Given the description of an element on the screen output the (x, y) to click on. 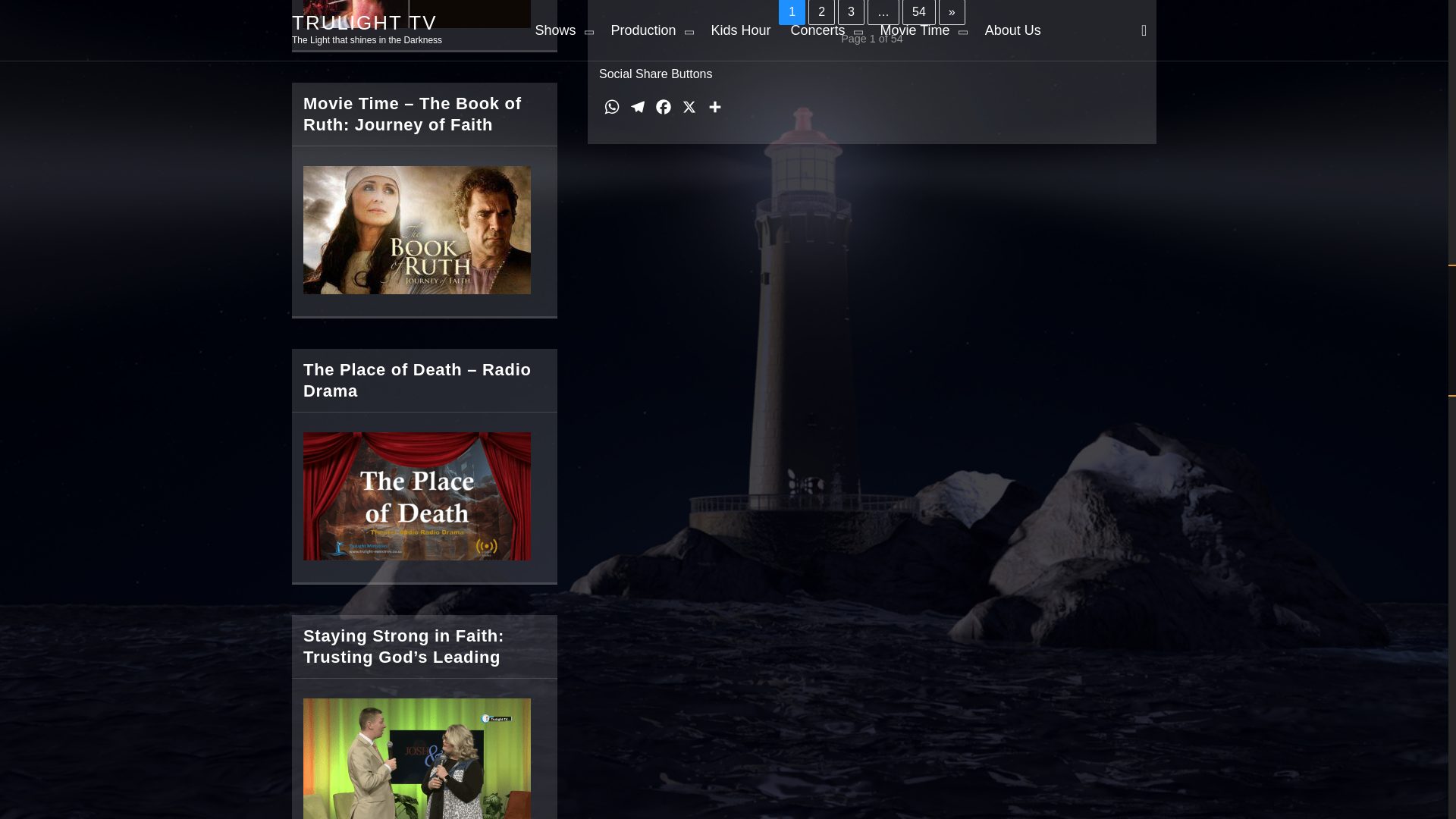
Telegram (637, 109)
Facebook (663, 109)
WhatsApp (611, 109)
X (689, 109)
